Given the description of an element on the screen output the (x, y) to click on. 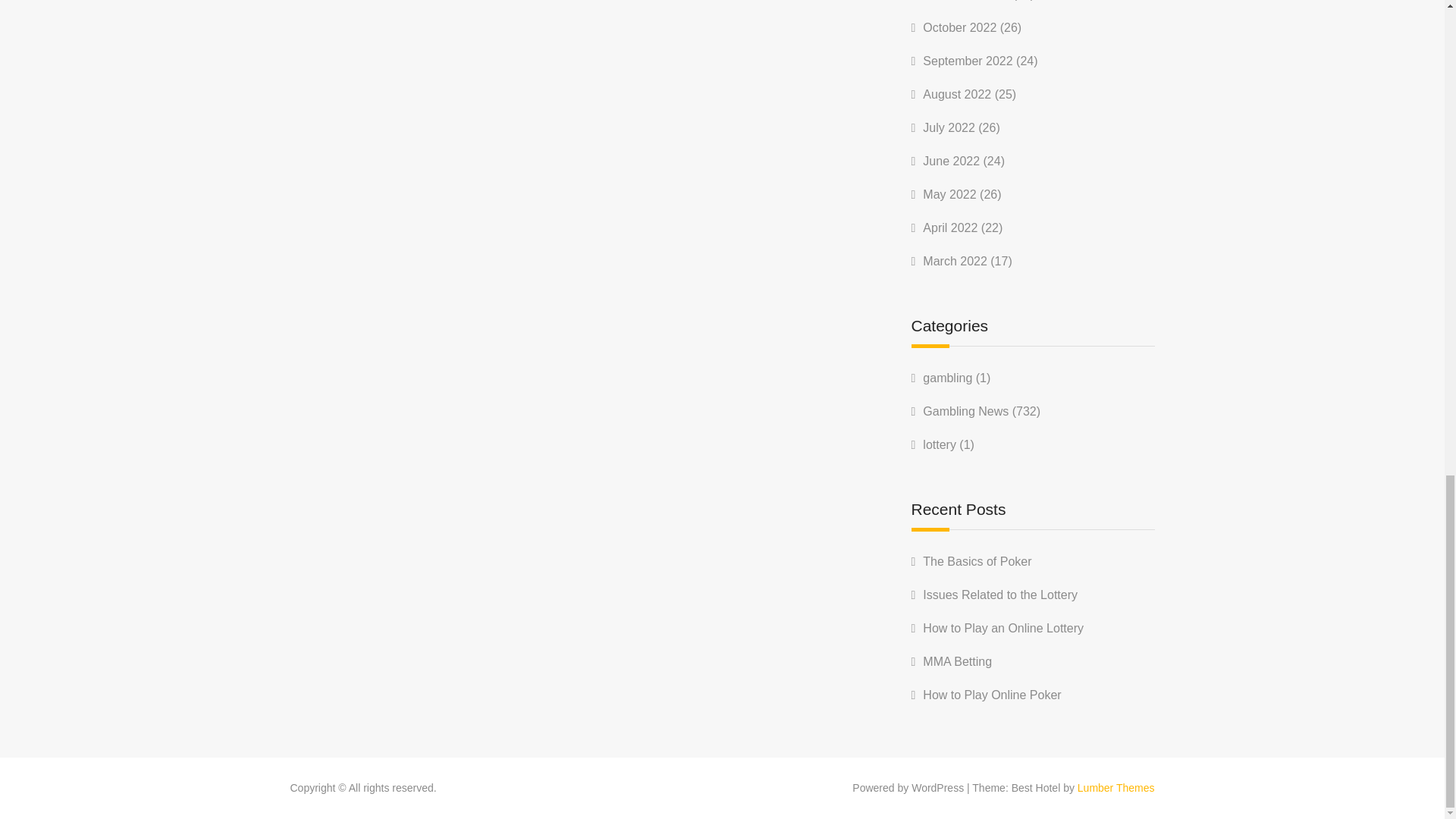
June 2022 (951, 160)
August 2022 (957, 93)
September 2022 (967, 60)
October 2022 (959, 27)
July 2022 (949, 127)
